Given the description of an element on the screen output the (x, y) to click on. 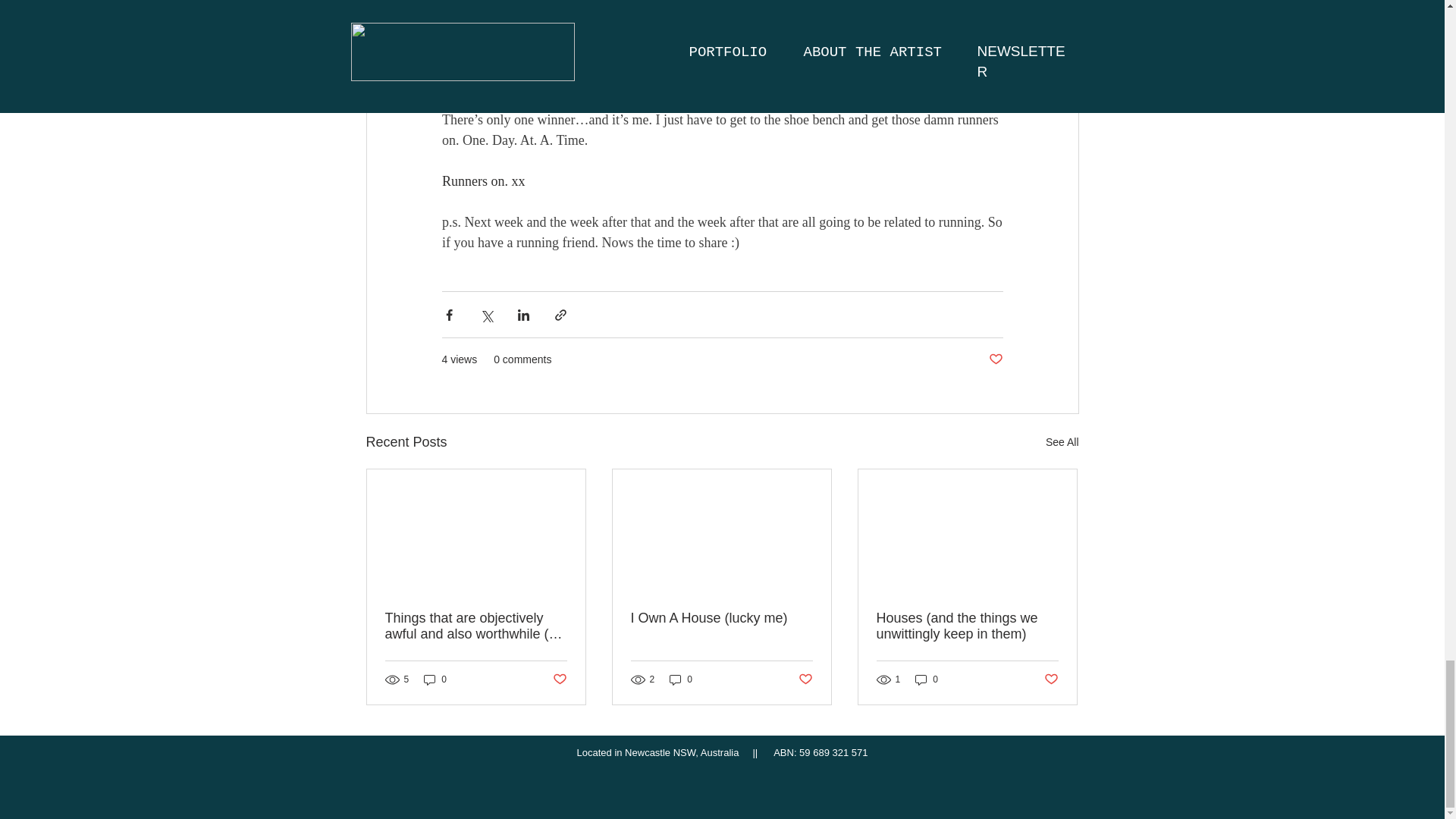
Post not marked as liked (1050, 679)
0 (681, 679)
0 (435, 679)
Post not marked as liked (558, 679)
See All (1061, 442)
0 (926, 679)
Post not marked as liked (804, 679)
Post not marked as liked (995, 359)
